Given the description of an element on the screen output the (x, y) to click on. 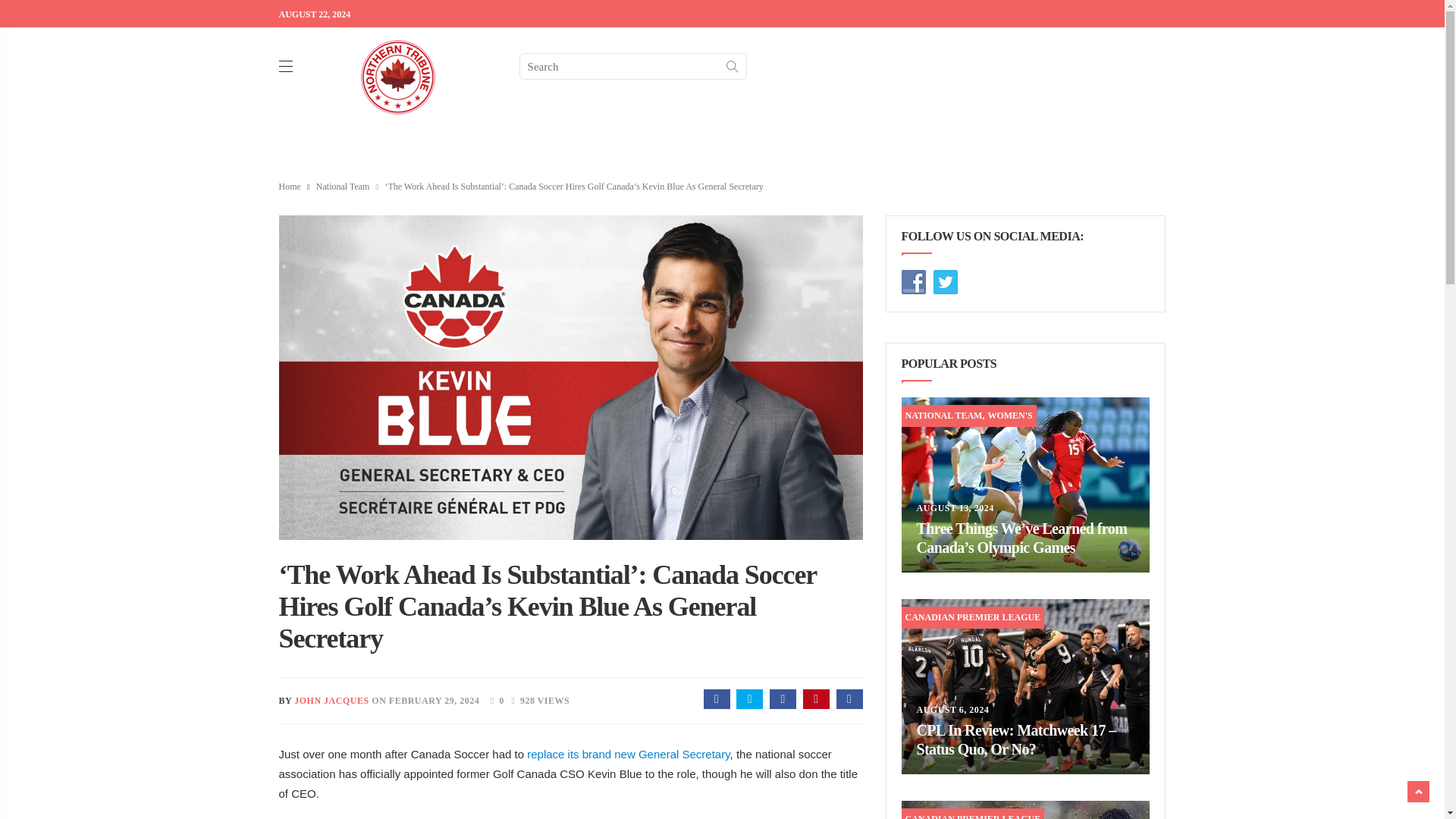
National Team (342, 185)
0 (492, 699)
replace its brand new General Secretary (628, 753)
Home (290, 185)
JOHN JACQUES (331, 700)
Home (290, 185)
